Given the description of an element on the screen output the (x, y) to click on. 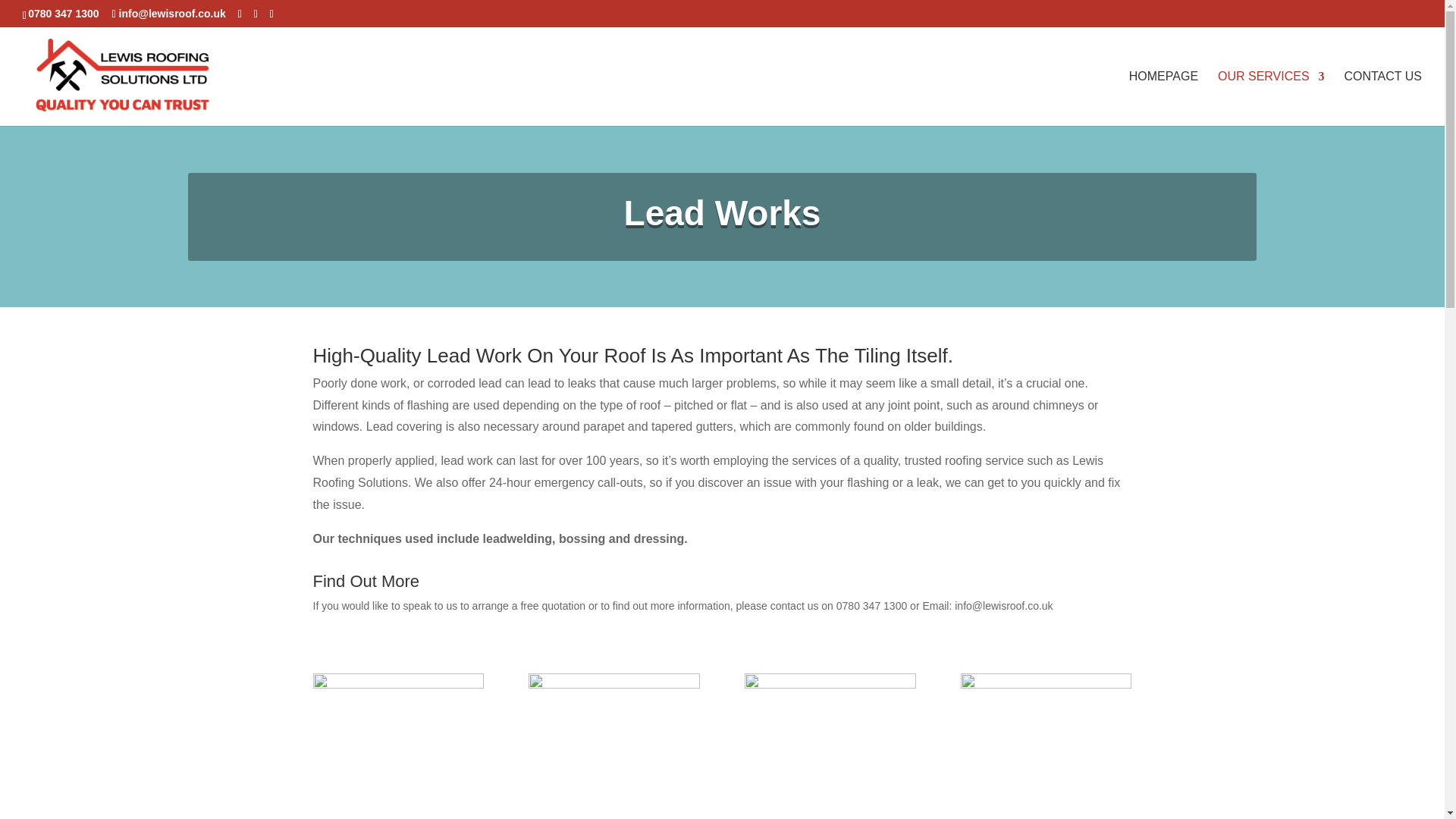
OUR SERVICES (1270, 98)
Screenshot 2021-05-12 at 11.52.02 (1045, 684)
HOMEPAGE (1163, 98)
CONTACT US (1382, 98)
4E2C6E9B-0617-4042-9FC4-77E60FF32BF5-preview (398, 684)
